Given the description of an element on the screen output the (x, y) to click on. 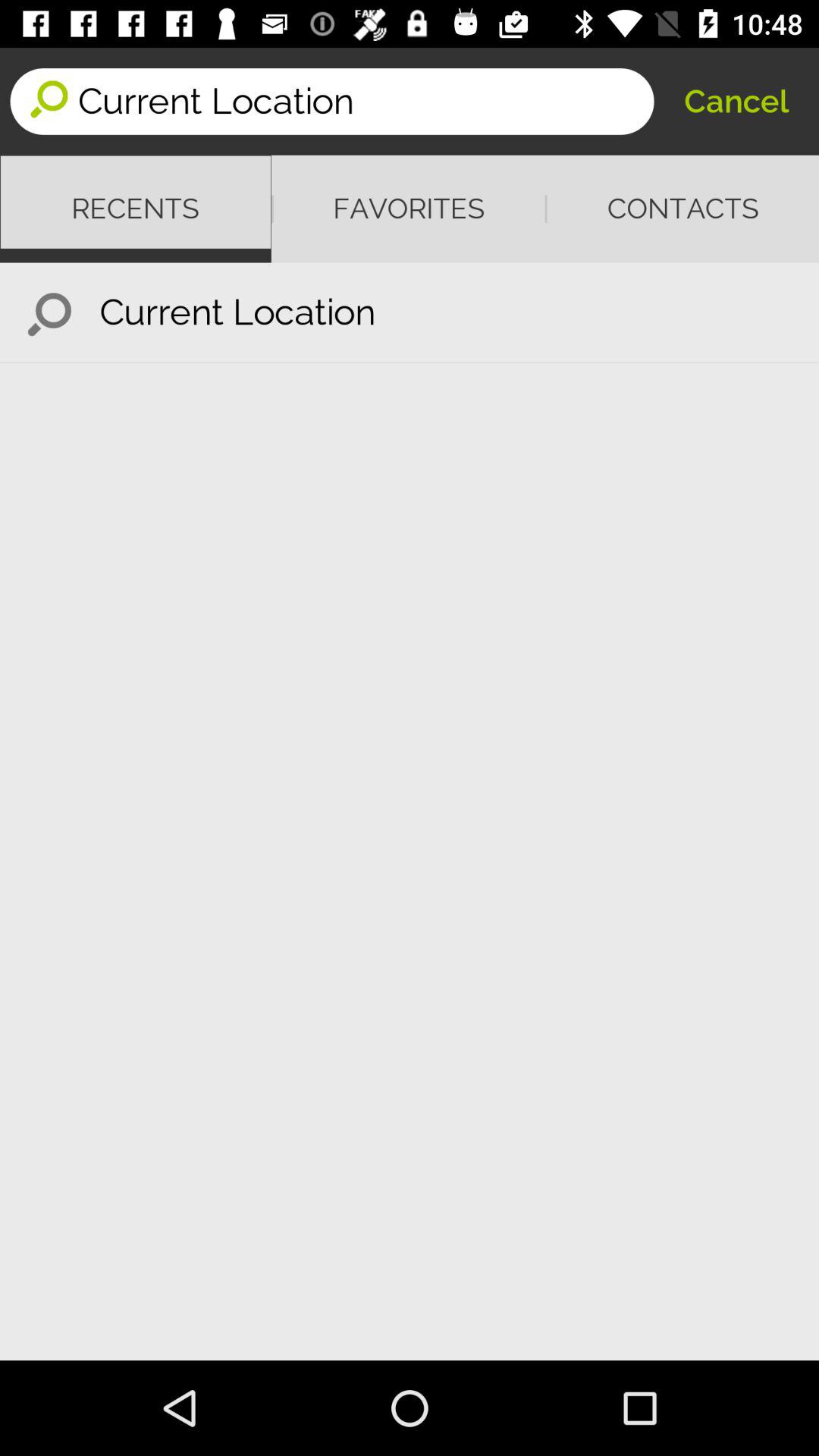
turn on the icon above contacts item (736, 101)
